Given the description of an element on the screen output the (x, y) to click on. 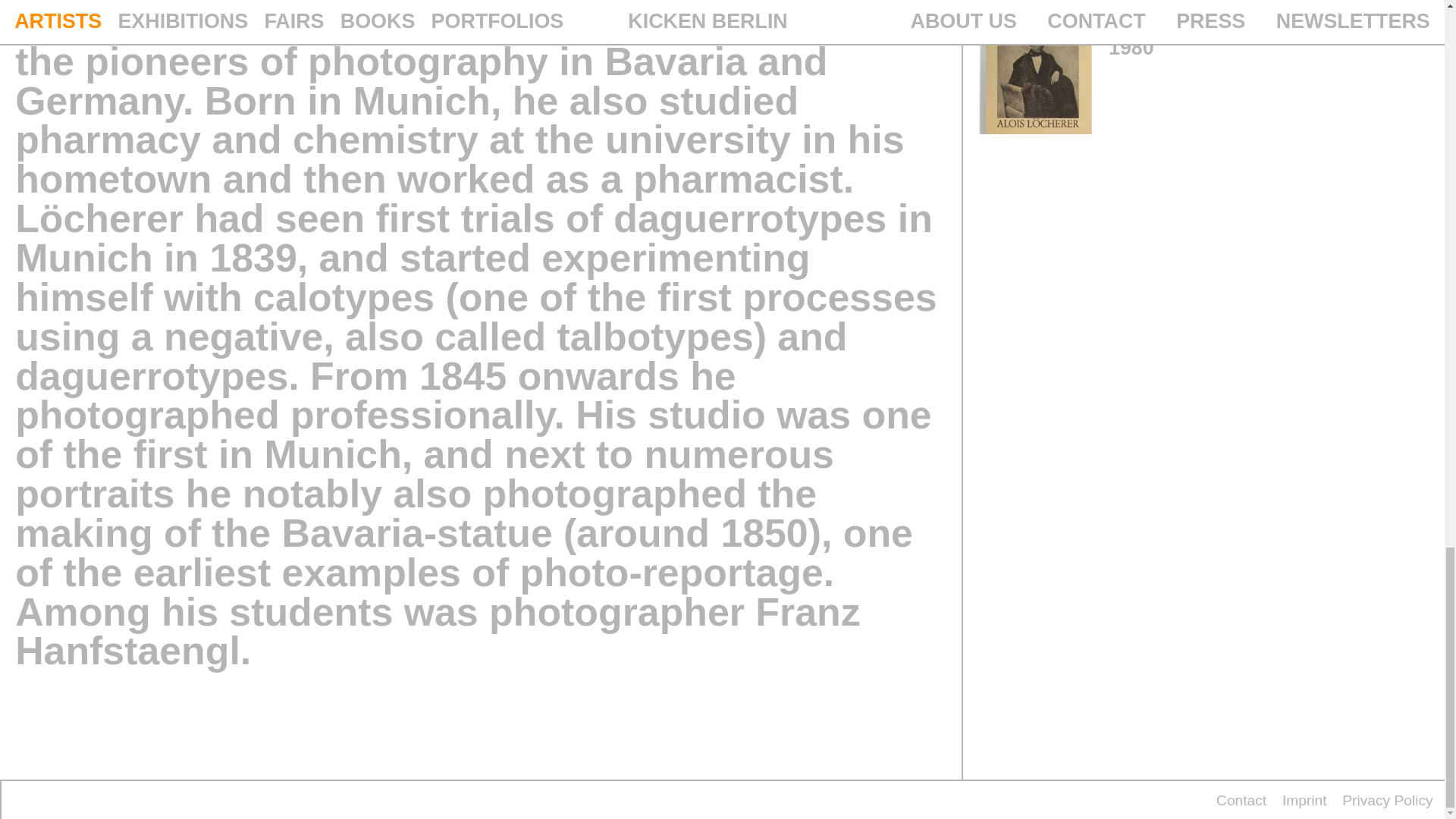
Privacy Policy (1387, 800)
Imprint (1304, 800)
Contact (1240, 800)
